Given the description of an element on the screen output the (x, y) to click on. 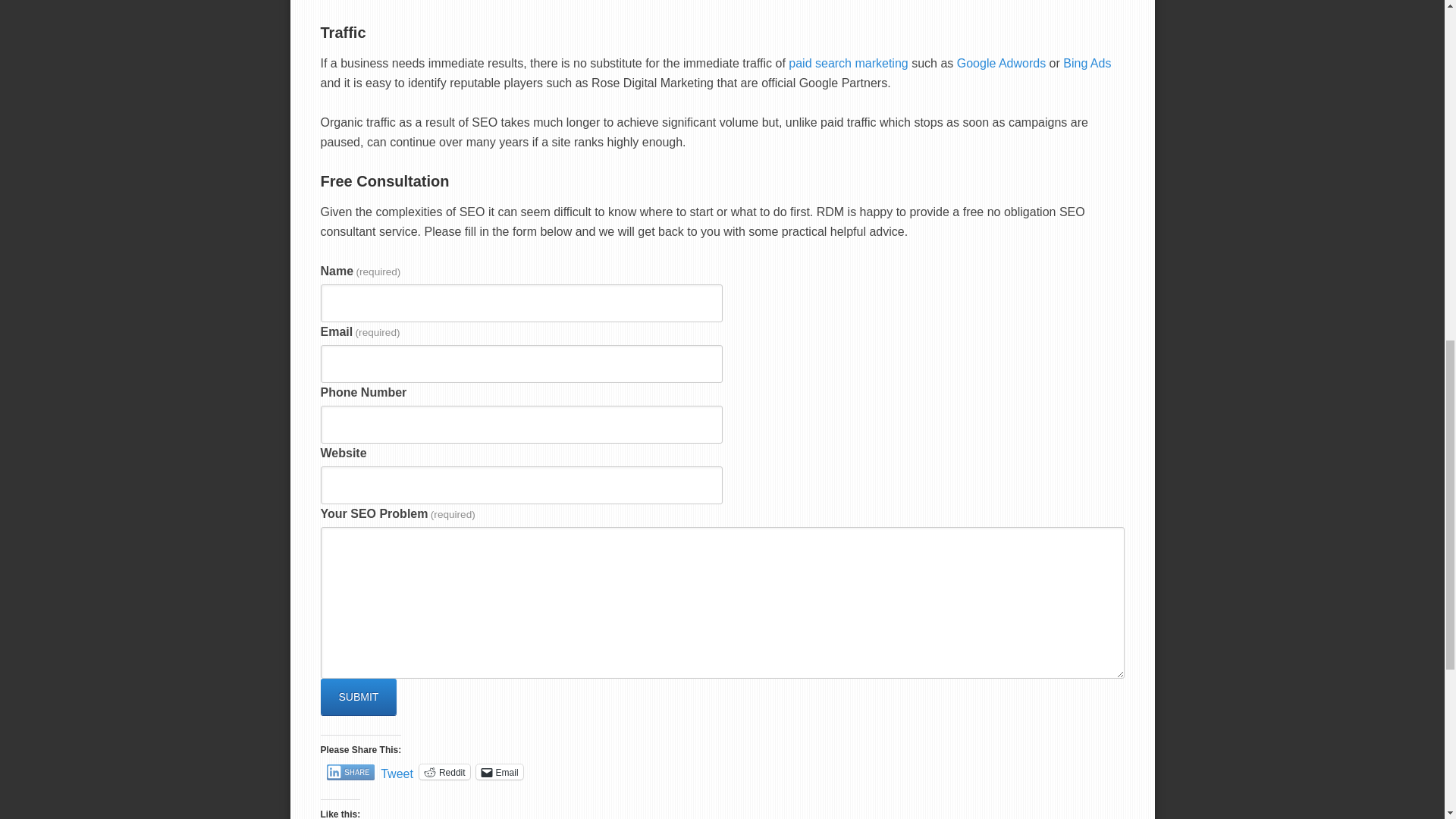
paid search marketing (848, 62)
Bing Ads (1086, 62)
Reddit (444, 771)
Tweet (396, 771)
Email (499, 771)
Google Adwords (1000, 62)
SHARE (350, 771)
Google Adwords (848, 62)
Click to email a link to a friend (499, 771)
SUBMIT (358, 696)
Click to share on Reddit (444, 771)
